Given the description of an element on the screen output the (x, y) to click on. 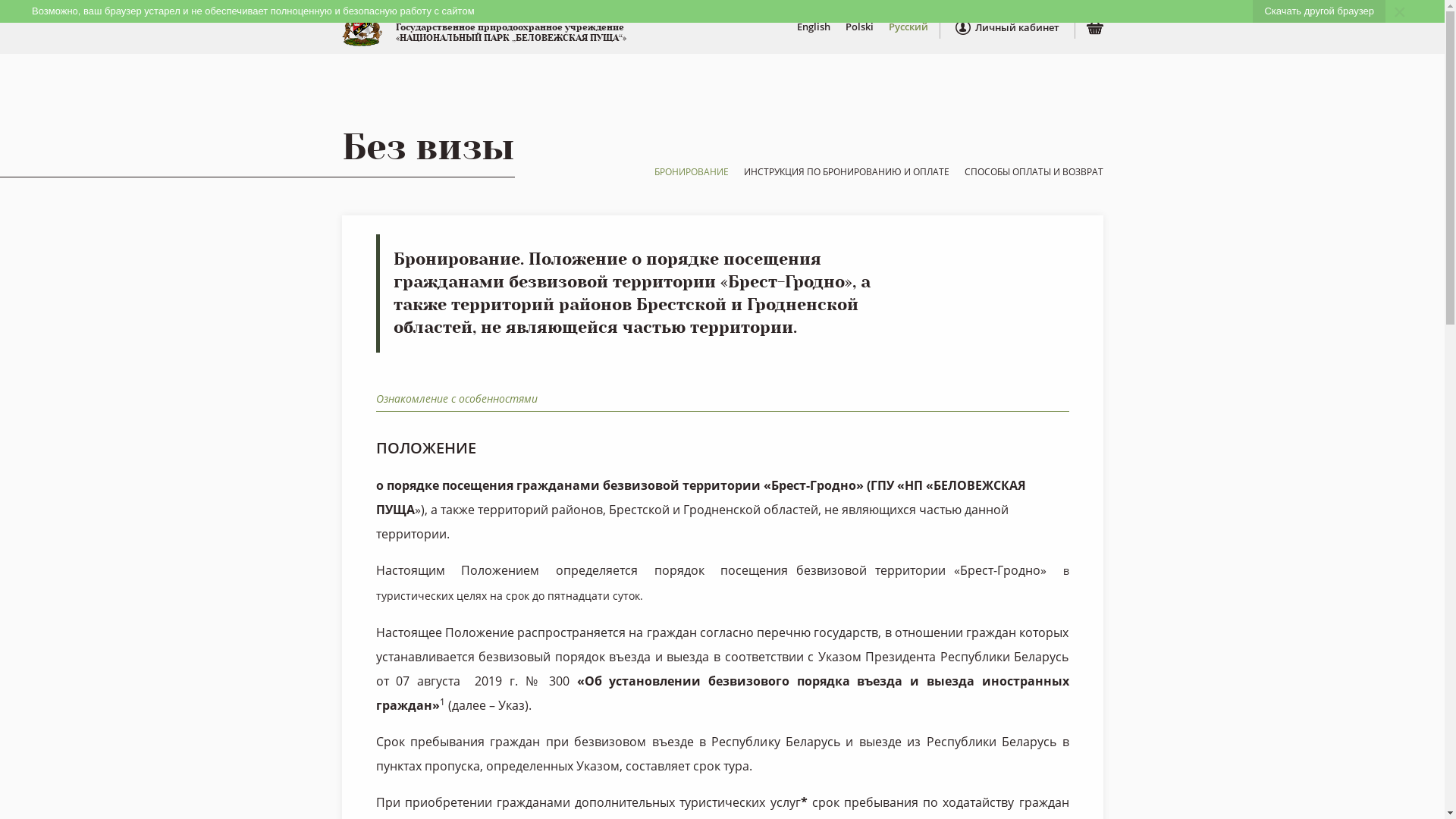
Polski Element type: text (858, 26)
English Element type: text (812, 26)
